Given the description of an element on the screen output the (x, y) to click on. 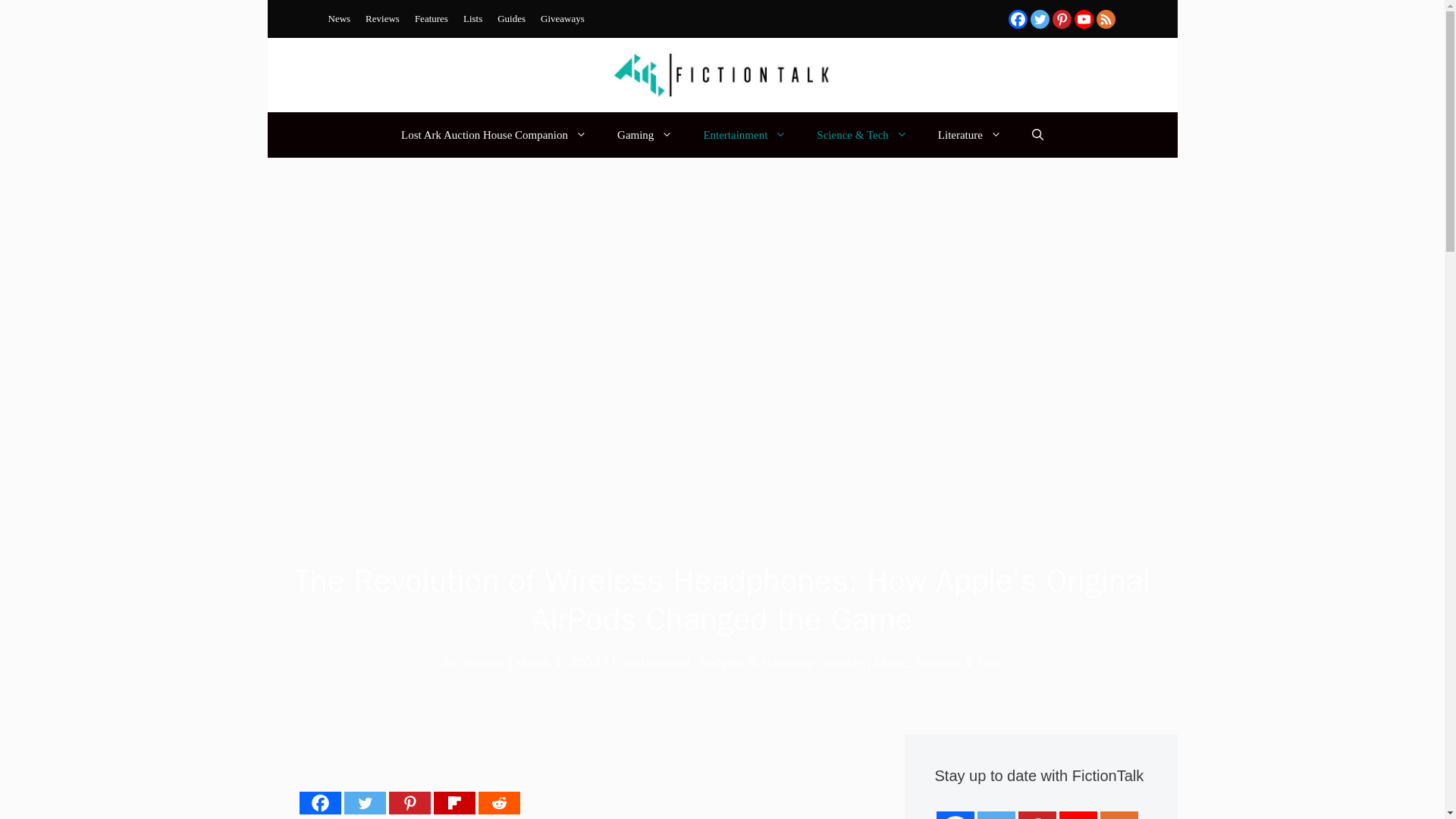
Lost Ark Auction House Companion (493, 135)
Gaming (644, 135)
Twitter (364, 802)
View all posts by Jon Gordon (473, 662)
Entertainment (744, 135)
Pinterest (1061, 18)
Youtube Channel (1083, 18)
RSS feed (1105, 18)
News (338, 18)
Guides (511, 18)
